Given the description of an element on the screen output the (x, y) to click on. 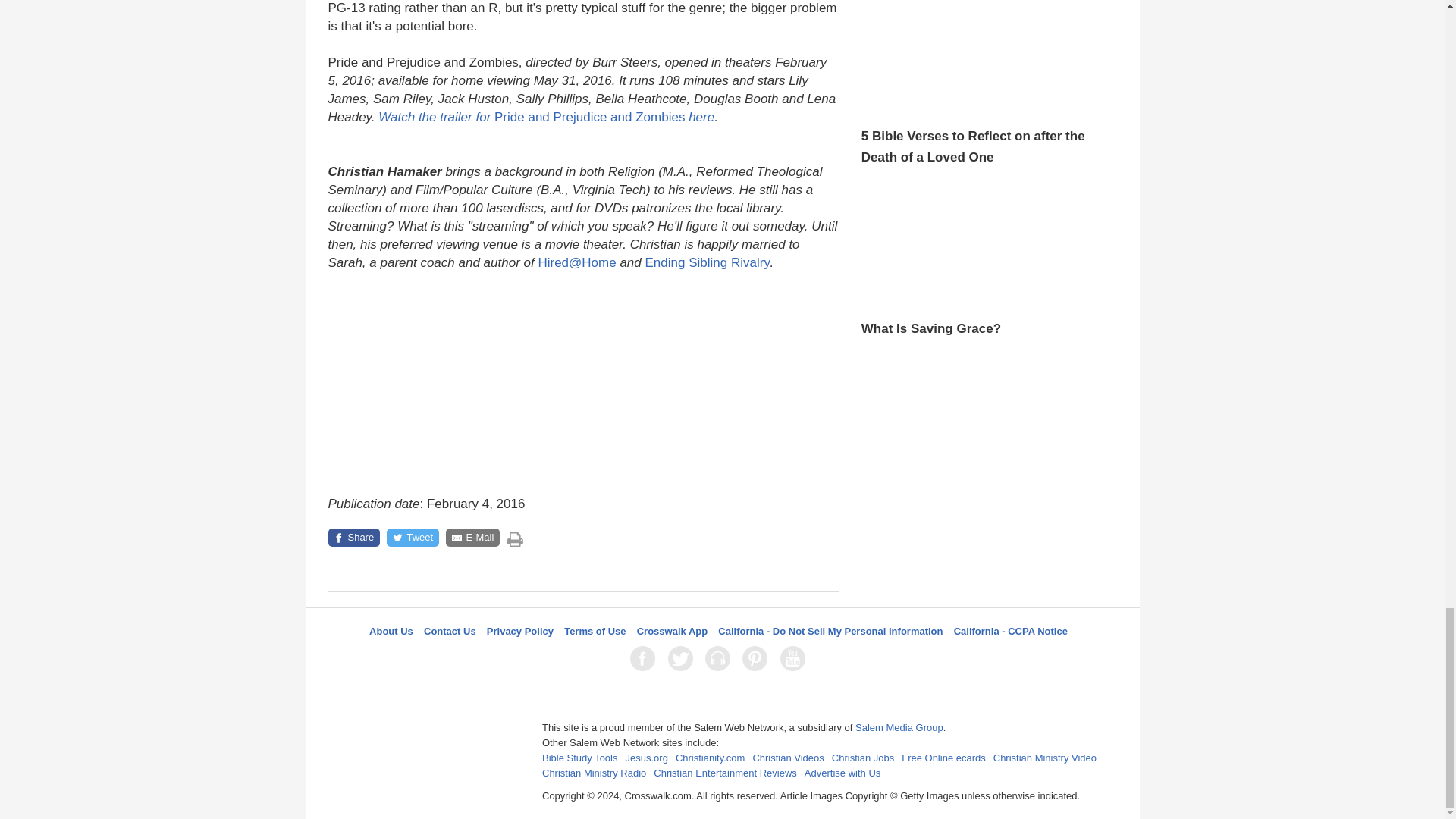
Facebook (645, 658)
LifeAudio (719, 658)
YouTube (795, 658)
Pinterest (757, 658)
Twitter (683, 658)
